Given the description of an element on the screen output the (x, y) to click on. 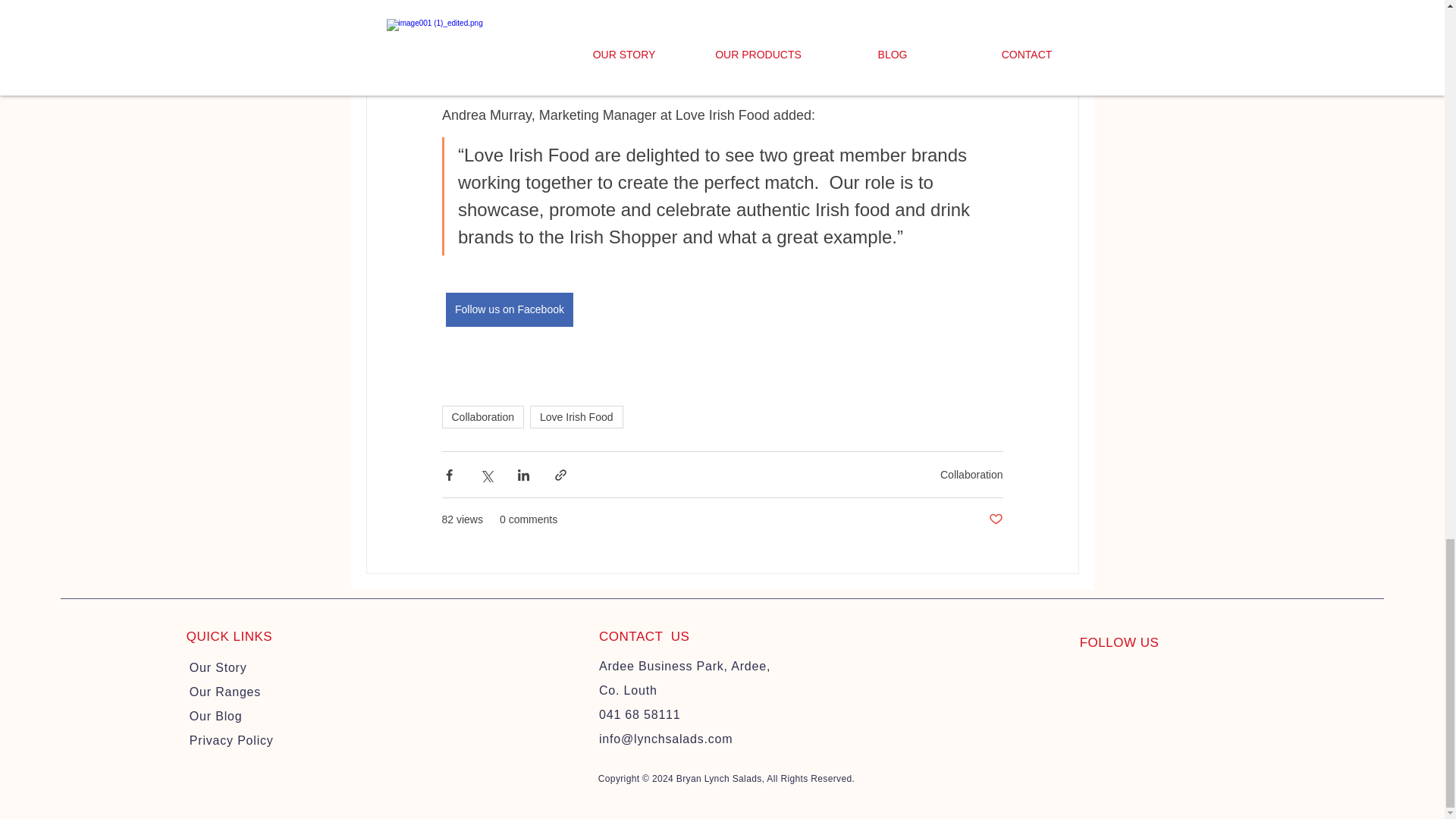
Our Blog (216, 716)
Collaboration (971, 473)
Privacy Policy (231, 739)
Our Ranges (224, 691)
Collaboration (482, 416)
Follow us on Facebook (509, 309)
Our Story (218, 667)
Post not marked as liked (995, 519)
Love Irish Food (576, 416)
